Given the description of an element on the screen output the (x, y) to click on. 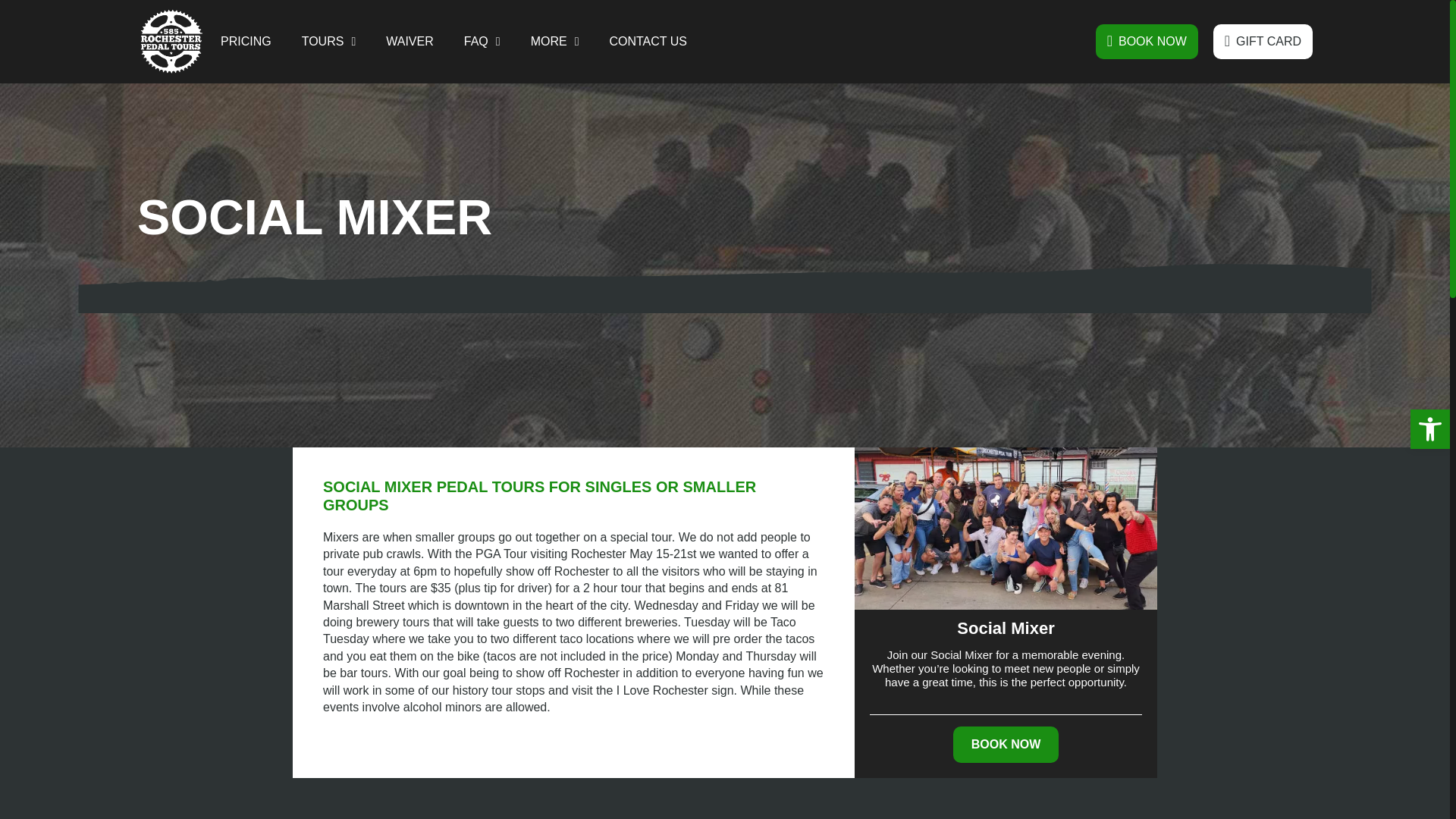
FAQ (481, 41)
MORE (554, 41)
PRICING (245, 41)
GIFT CARD (1262, 41)
TOURS (328, 41)
Accessibility Tools (1430, 428)
CONTACT US (647, 41)
WAIVER (409, 41)
BOOK NOW (1147, 41)
